Given the description of an element on the screen output the (x, y) to click on. 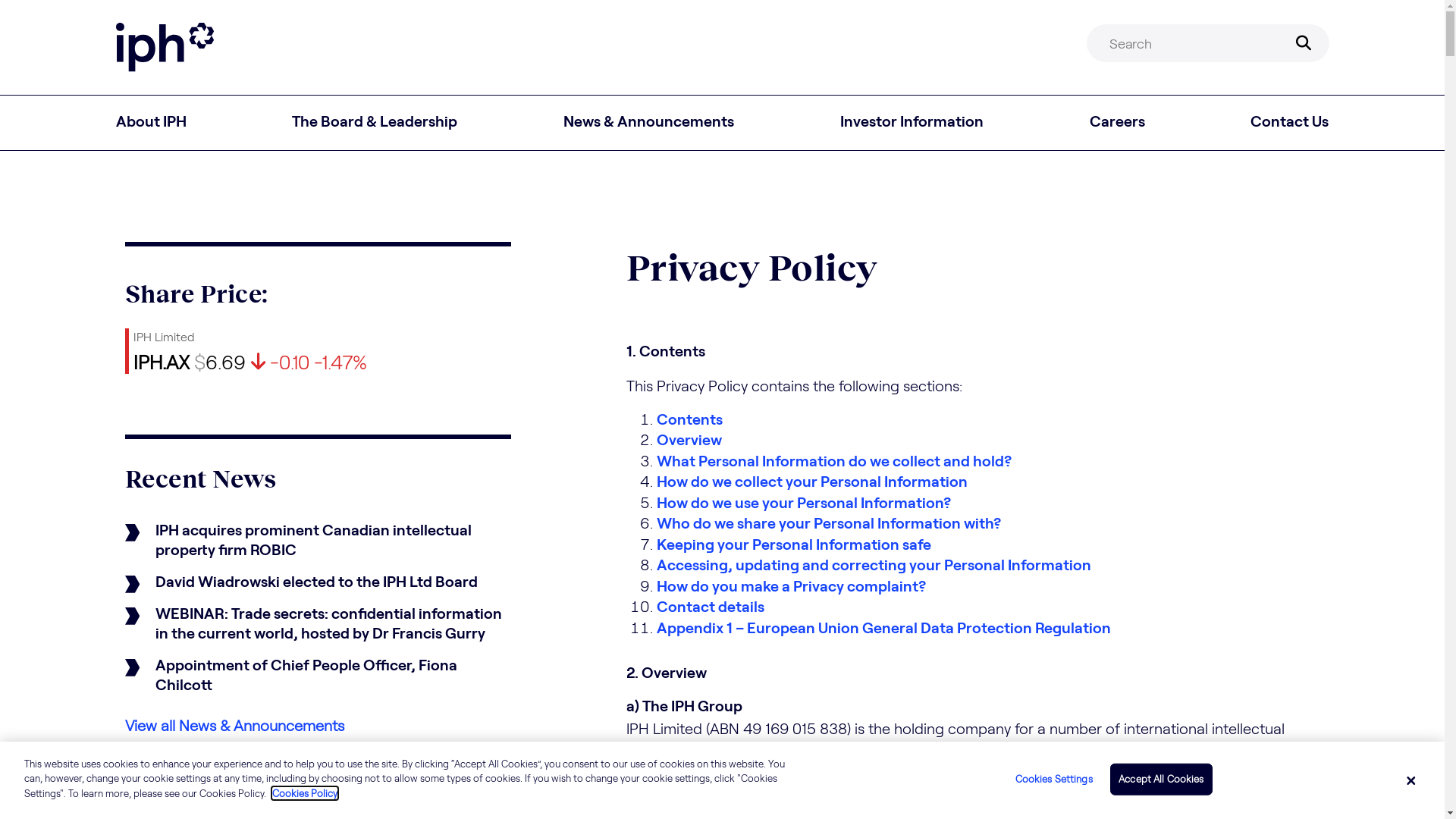
Contents Element type: text (689, 418)
Appointment of Chief People Officer, Fiona Chilcott Element type: text (317, 673)
Accessing, updating and correcting your Personal Information Element type: text (873, 564)
Careers Element type: text (1117, 122)
David Wiadrowski elected to the IPH Ltd Board Element type: text (317, 580)
Who do we share your Personal Information with? Element type: text (828, 522)
What Personal Information do we collect and hold? Element type: text (833, 459)
Accept All Cookies Element type: text (1160, 779)
Contact details Element type: text (710, 605)
Cookies Settings Element type: text (1049, 779)
Contact Us Element type: text (1289, 122)
News & Announcements Element type: text (648, 122)
How do you make a Privacy complaint? Element type: text (790, 585)
Overview Element type: text (688, 438)
About IPH Element type: text (150, 122)
How do we use your Personal Information? Element type: text (803, 501)
Keeping your Personal Information safe Element type: text (793, 542)
Cookies Policy Element type: text (304, 793)
Investor Information Element type: text (911, 122)
How do we collect your Personal Information Element type: text (811, 480)
The Board & Leadership Element type: text (374, 122)
View all News & Announcements Element type: text (233, 724)
